Given the description of an element on the screen output the (x, y) to click on. 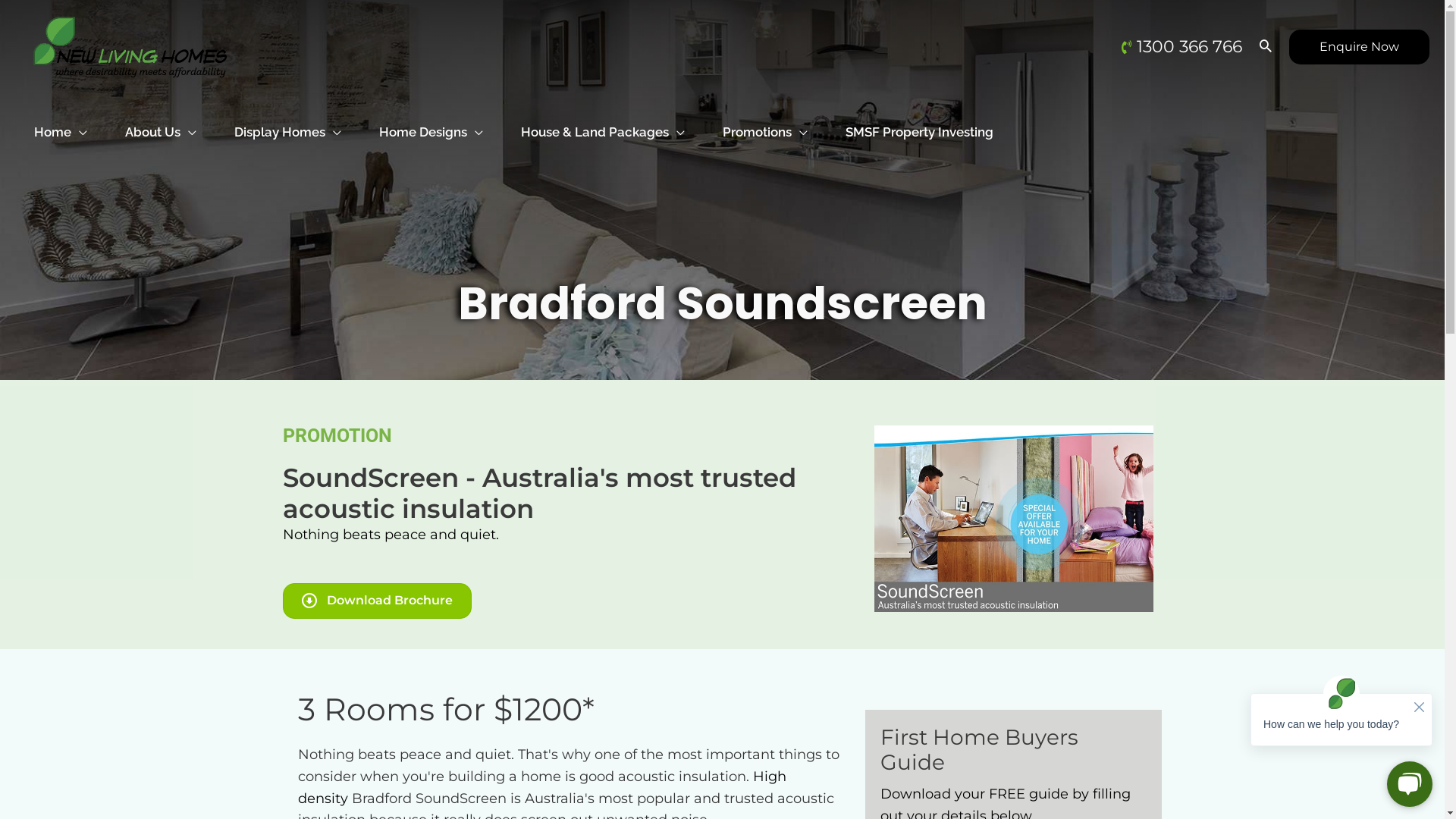
Home Element type: text (60, 118)
House & Land Packages Element type: text (602, 118)
1300 366 766 Element type: text (1189, 46)
Enquire Now Element type: text (1359, 46)
Home Designs Element type: text (431, 118)
Download Brochure Element type: text (376, 600)
Promotions Element type: text (764, 118)
About Us Element type: text (160, 118)
SMSF Property Investing Element type: text (919, 118)
Bradford-soundscreen-promo2 Element type: hover (1012, 518)
Display Homes Element type: text (287, 118)
